Given the description of an element on the screen output the (x, y) to click on. 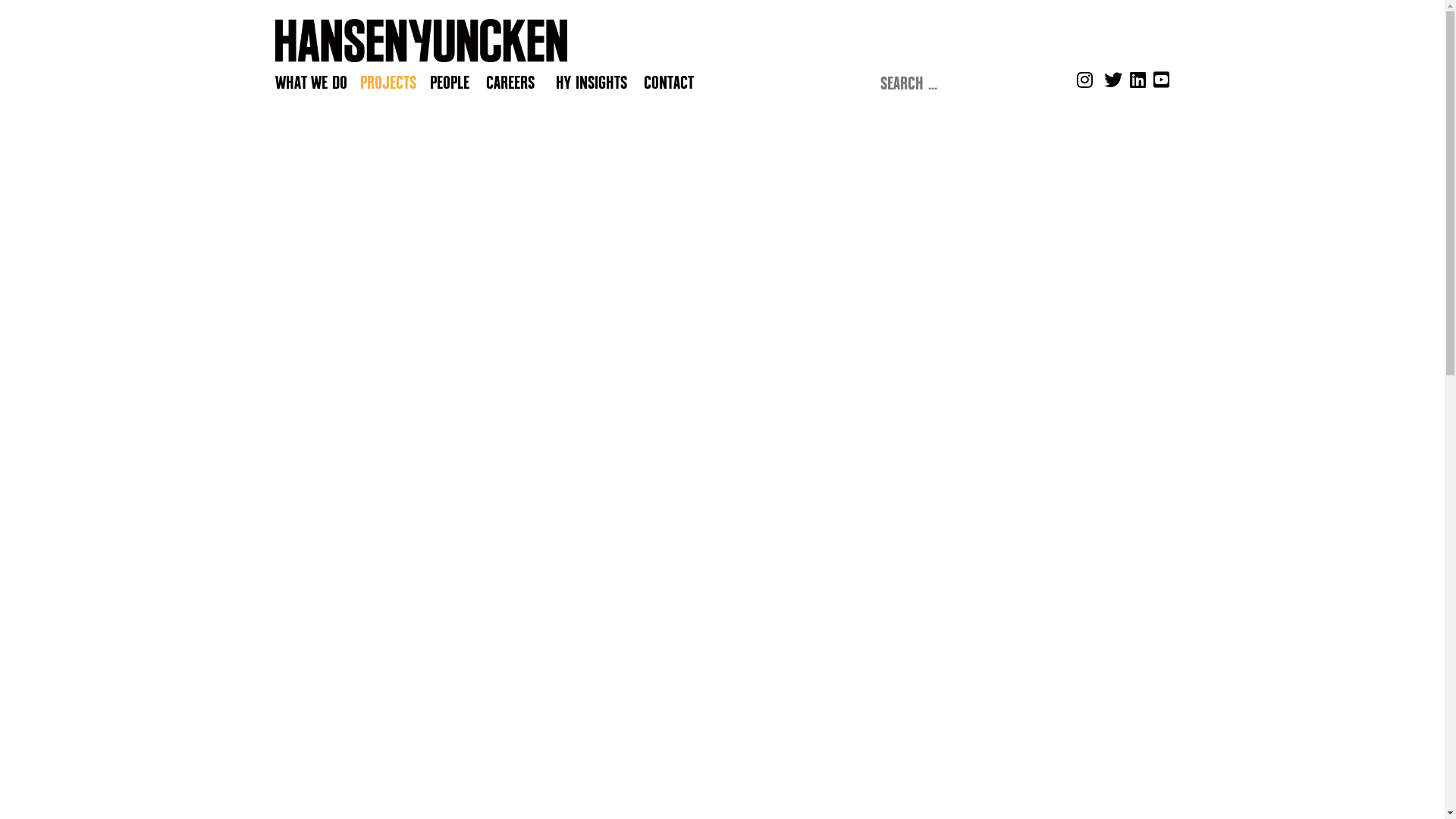
WHAT WE DO Element type: text (315, 82)
PEOPLE Element type: text (448, 82)
HY INSIGHTS Element type: text (590, 82)
CAREERS Element type: text (519, 82)
PROJECTS Element type: text (393, 82)
CONTACT Element type: text (668, 82)
